Given the description of an element on the screen output the (x, y) to click on. 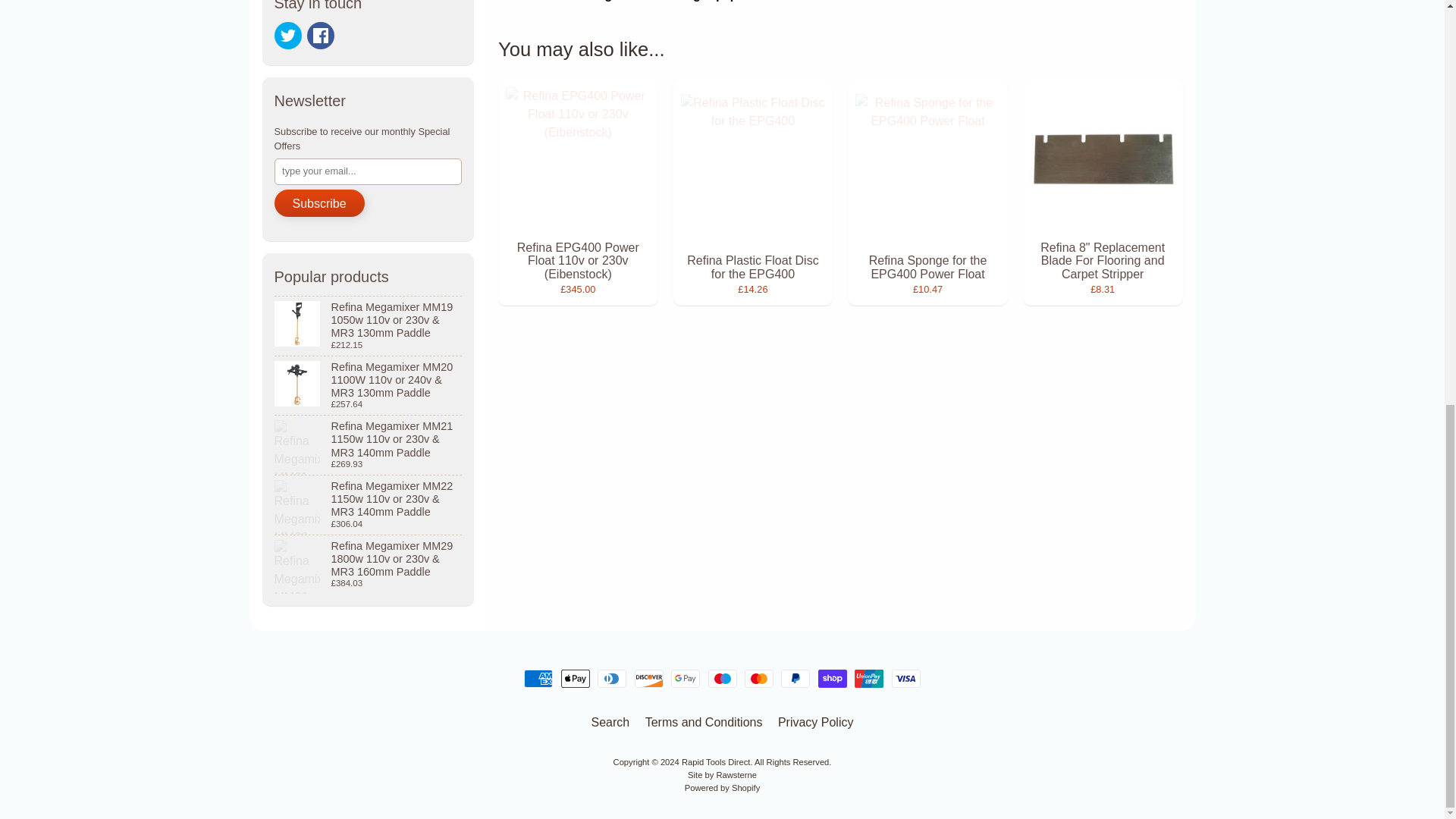
Shopify theme by Rawsterne (722, 774)
PayPal (794, 678)
Discover (648, 678)
Visa (905, 678)
Shop Pay (832, 678)
Facebook (320, 35)
Mastercard (758, 678)
Apple Pay (574, 678)
Diners Club (611, 678)
Maestro (721, 678)
